Given the description of an element on the screen output the (x, y) to click on. 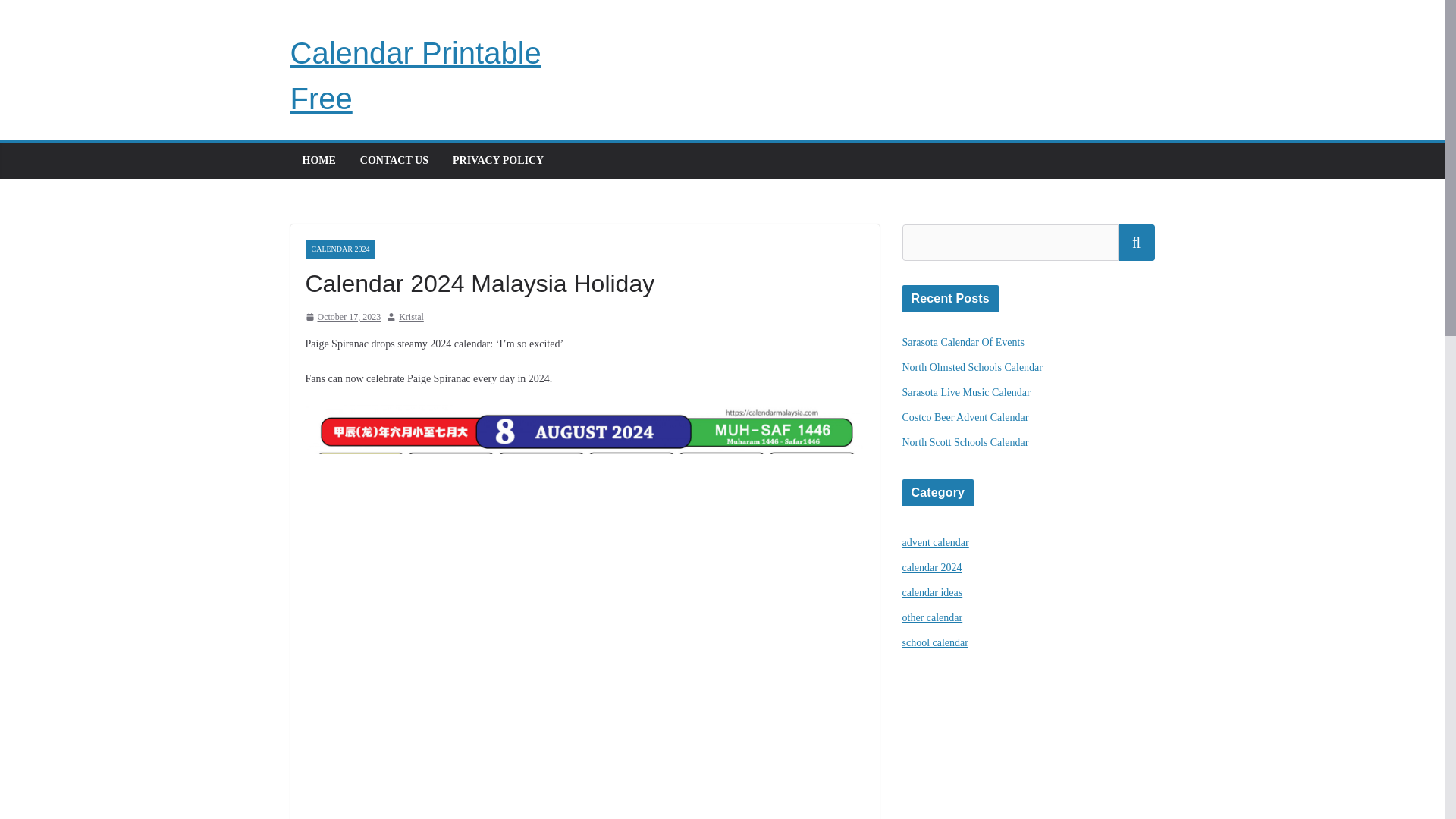
advent calendar (935, 542)
other calendar (932, 617)
Calendar Printable Free (414, 75)
Sarasota Live Music Calendar (966, 392)
Kristal (410, 317)
CONTACT US (393, 160)
HOME (317, 160)
11:47 pm (342, 317)
Costco Beer Advent Calendar (965, 417)
North Scott Schools Calendar (965, 441)
calendar 2024 (932, 567)
school calendar (935, 642)
Search (1136, 242)
calendar ideas (932, 592)
